Given the description of an element on the screen output the (x, y) to click on. 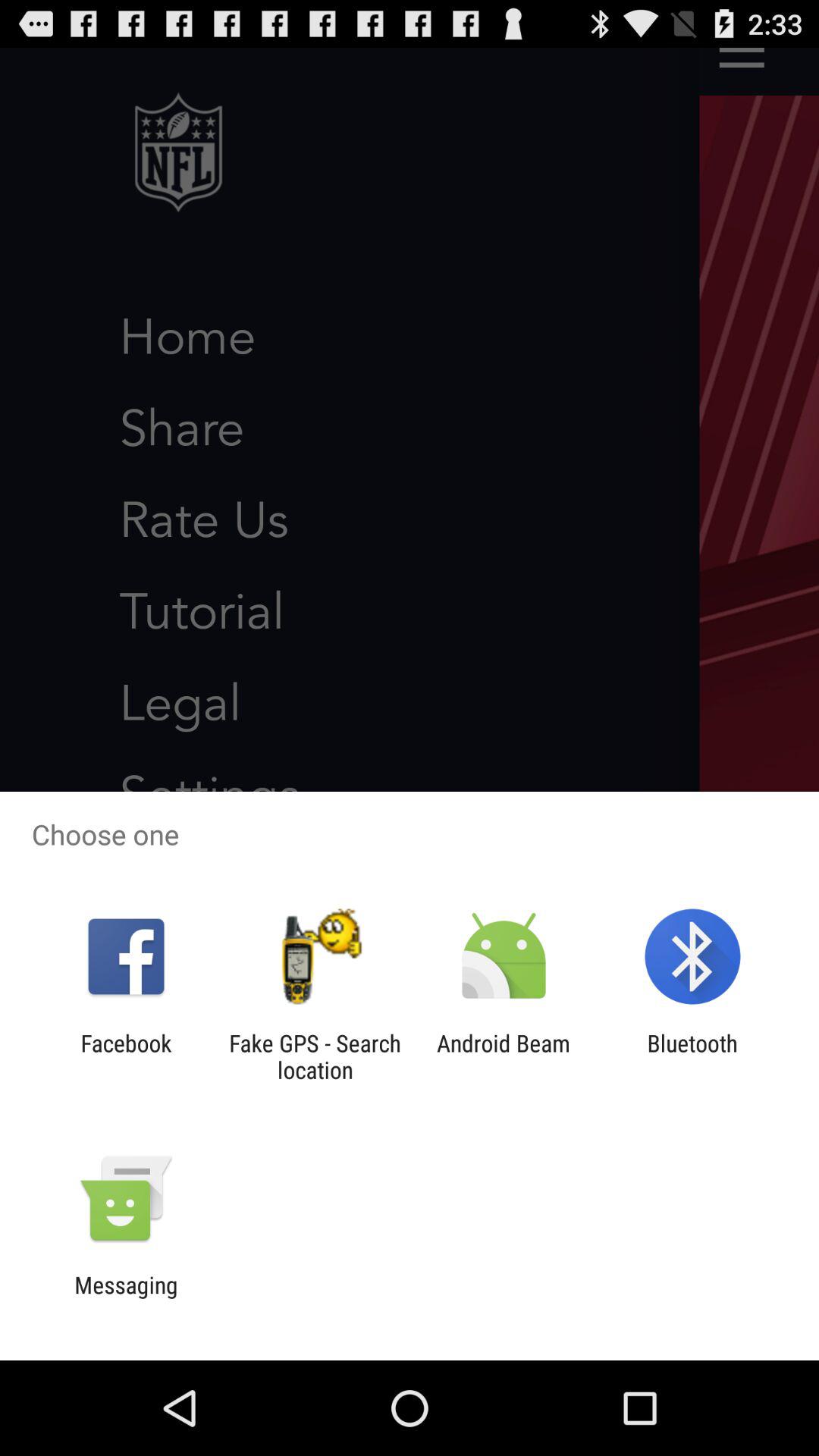
jump until the android beam (503, 1056)
